Given the description of an element on the screen output the (x, y) to click on. 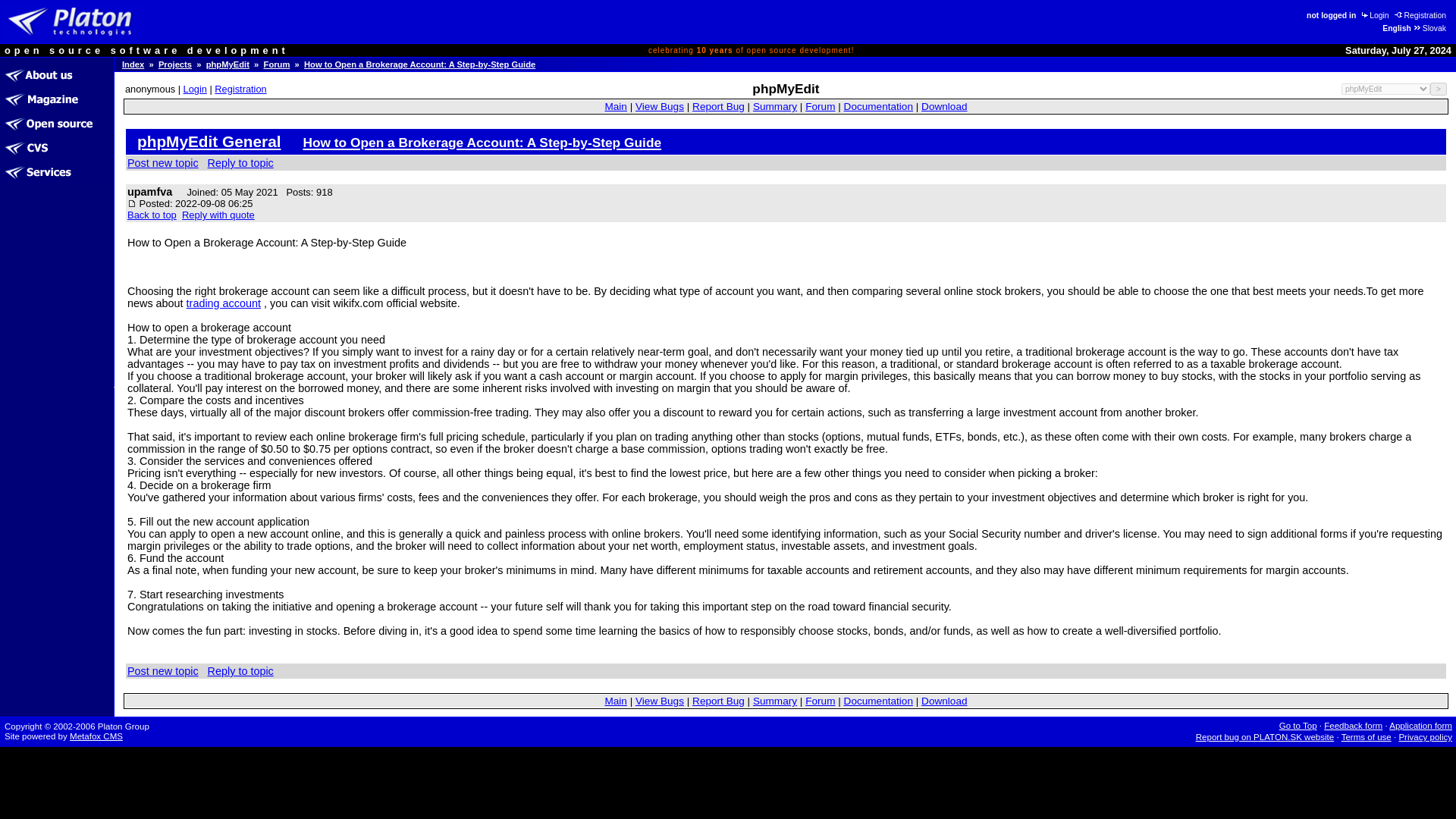
Reply to topic (240, 671)
CVS (56, 147)
Platon Technologies (72, 21)
Forum (819, 106)
Report Bug (718, 700)
Reply with quote (218, 214)
Download (943, 106)
Registration (240, 89)
Main (615, 106)
Projects (175, 63)
Report Bug (718, 106)
Main (615, 700)
Index (133, 63)
Registration (1420, 14)
